Given the description of an element on the screen output the (x, y) to click on. 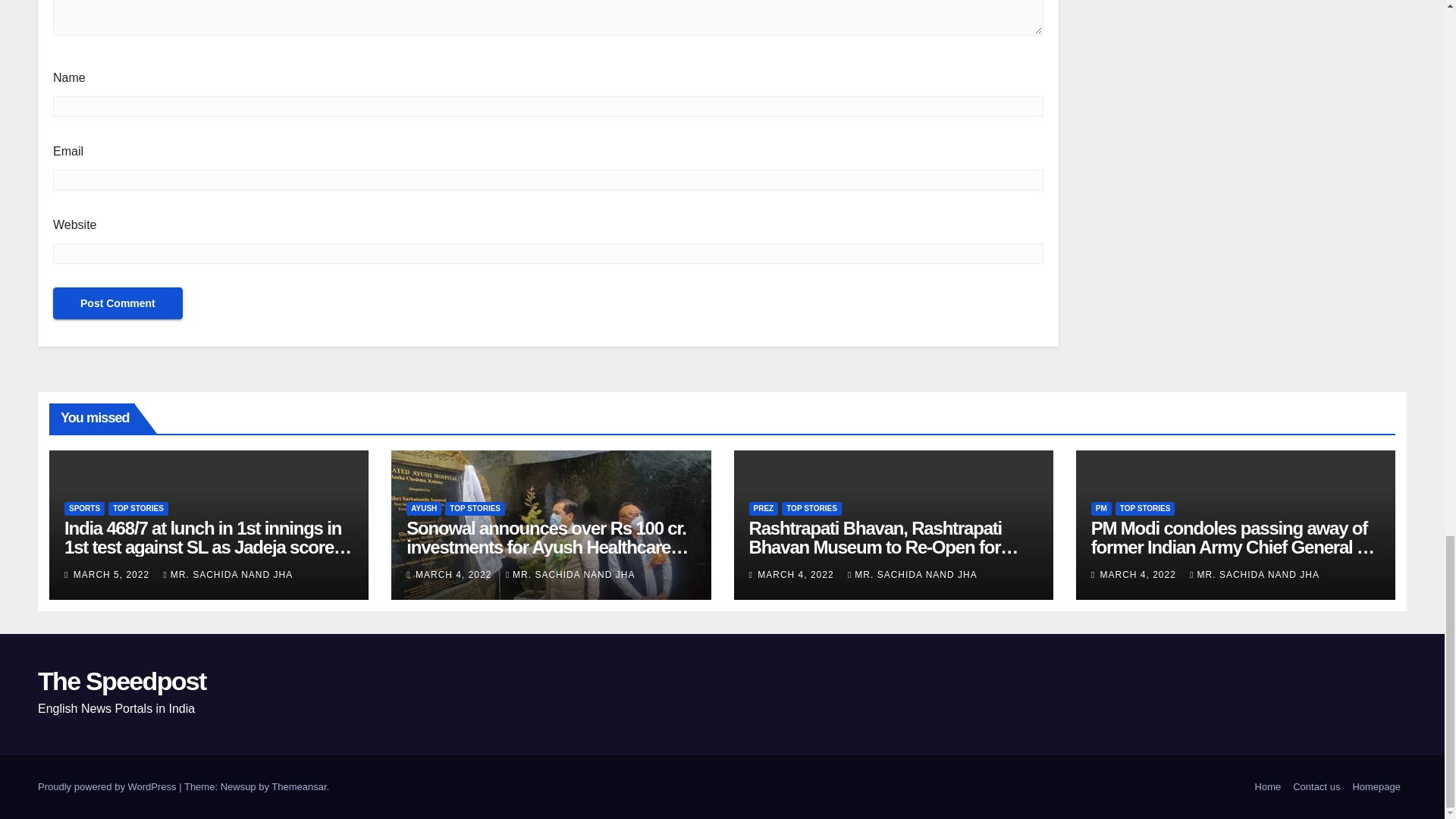
Post Comment (117, 303)
